Given the description of an element on the screen output the (x, y) to click on. 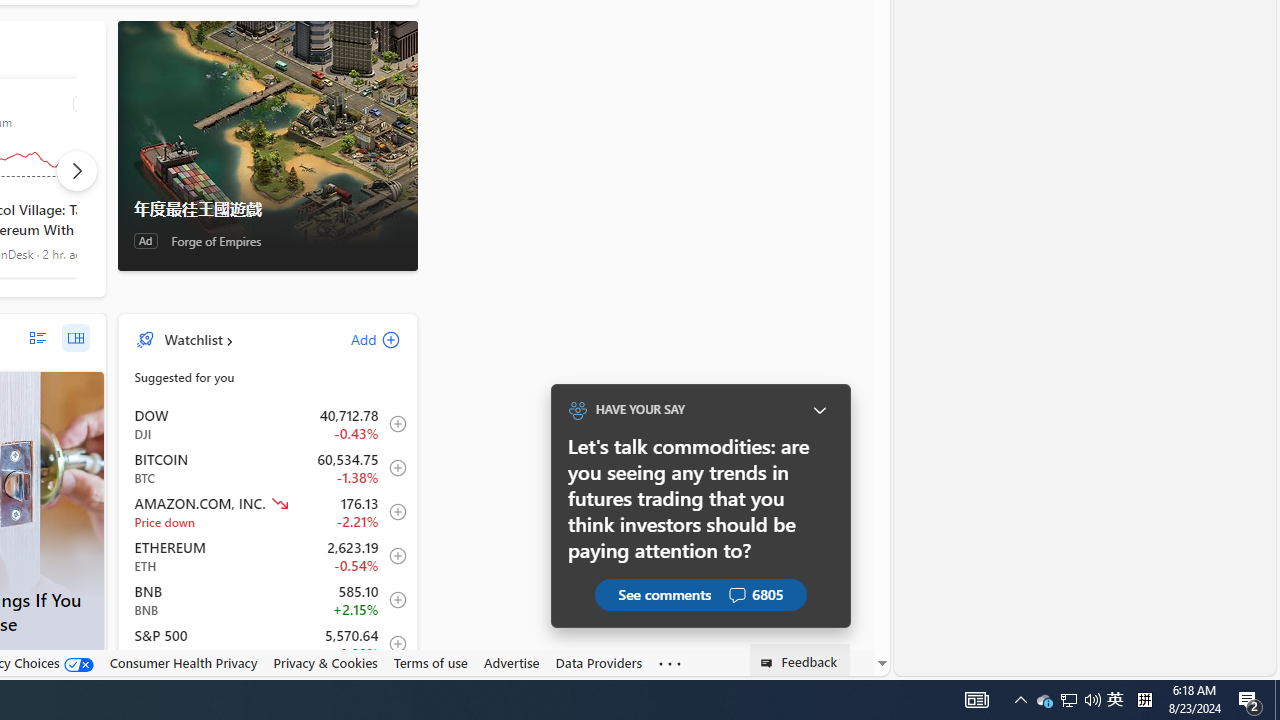
grid layout (75, 338)
Class: oneFooter_seeMore-DS-EntryPoint1-1 (669, 663)
BTC Bitcoin decrease 60,534.75 -837.20 -1.38% item1 (267, 467)
Data Providers (598, 662)
Class: feedback_link_icon-DS-EntryPoint1-1 (770, 663)
Terms of use (430, 662)
Add to Watchlist (392, 643)
